Given the description of an element on the screen output the (x, y) to click on. 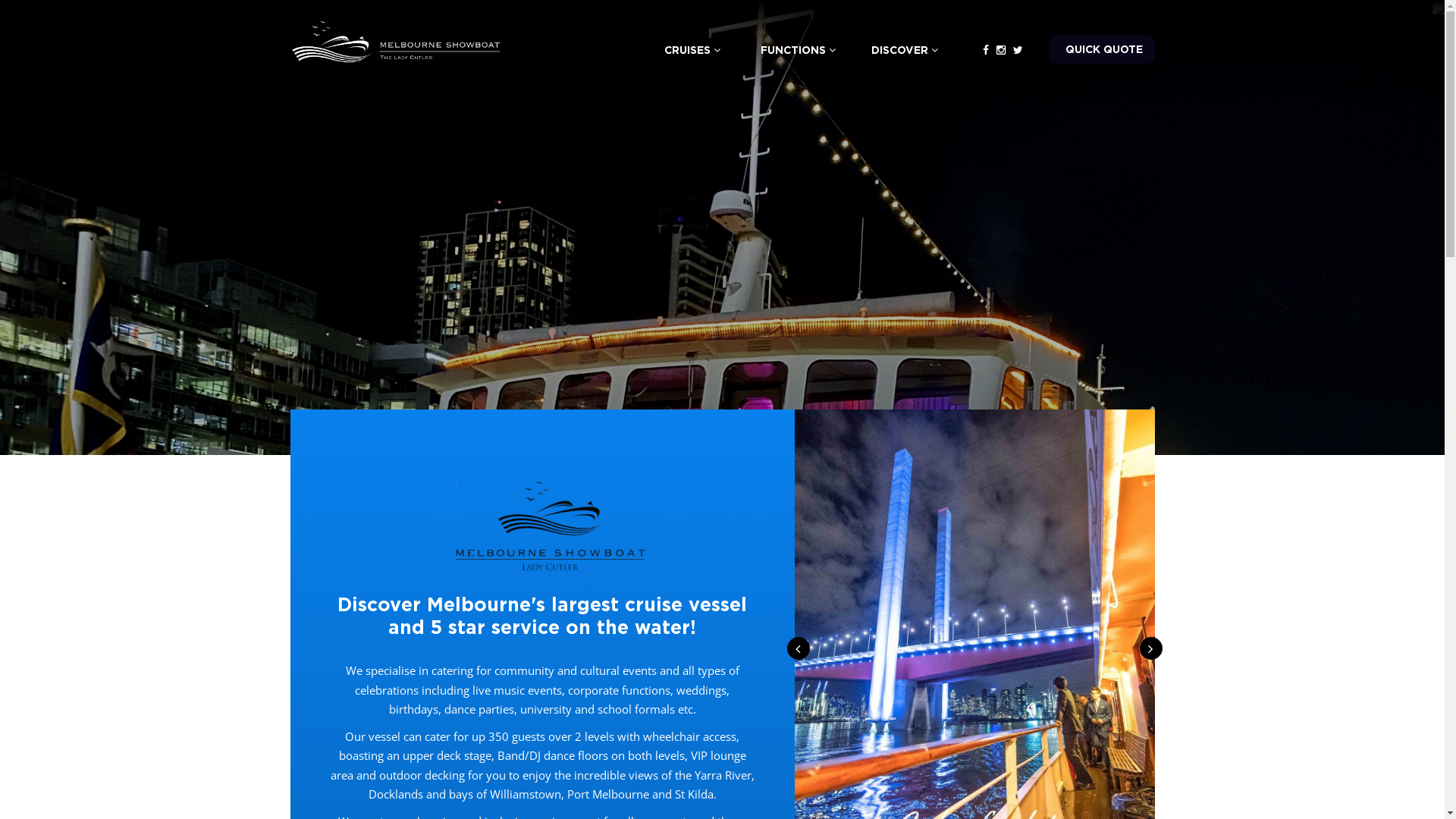
Like us on Facebook Element type: hover (985, 50)
FUNCTIONS Element type: text (797, 50)
QUICK QUOTE Element type: text (1101, 48)
The Lady Cutler - Melbourne Showboat Element type: hover (395, 40)
Follow us on Instagram Element type: hover (1000, 50)
DISCOVER Element type: text (903, 50)
CRUISES Element type: text (691, 50)
Follow us on Twitter Element type: hover (1017, 50)
